Given the description of an element on the screen output the (x, y) to click on. 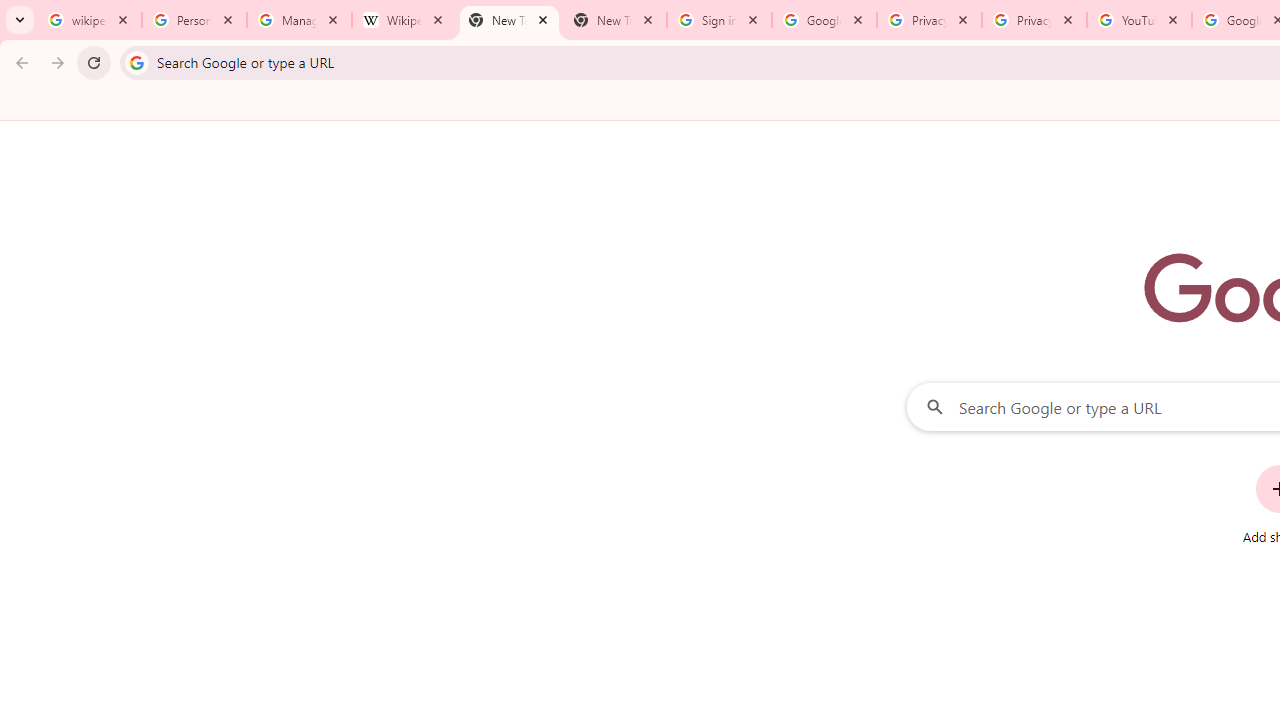
New Tab (613, 20)
New Tab (509, 20)
Personalization & Google Search results - Google Search Help (194, 20)
